Given the description of an element on the screen output the (x, y) to click on. 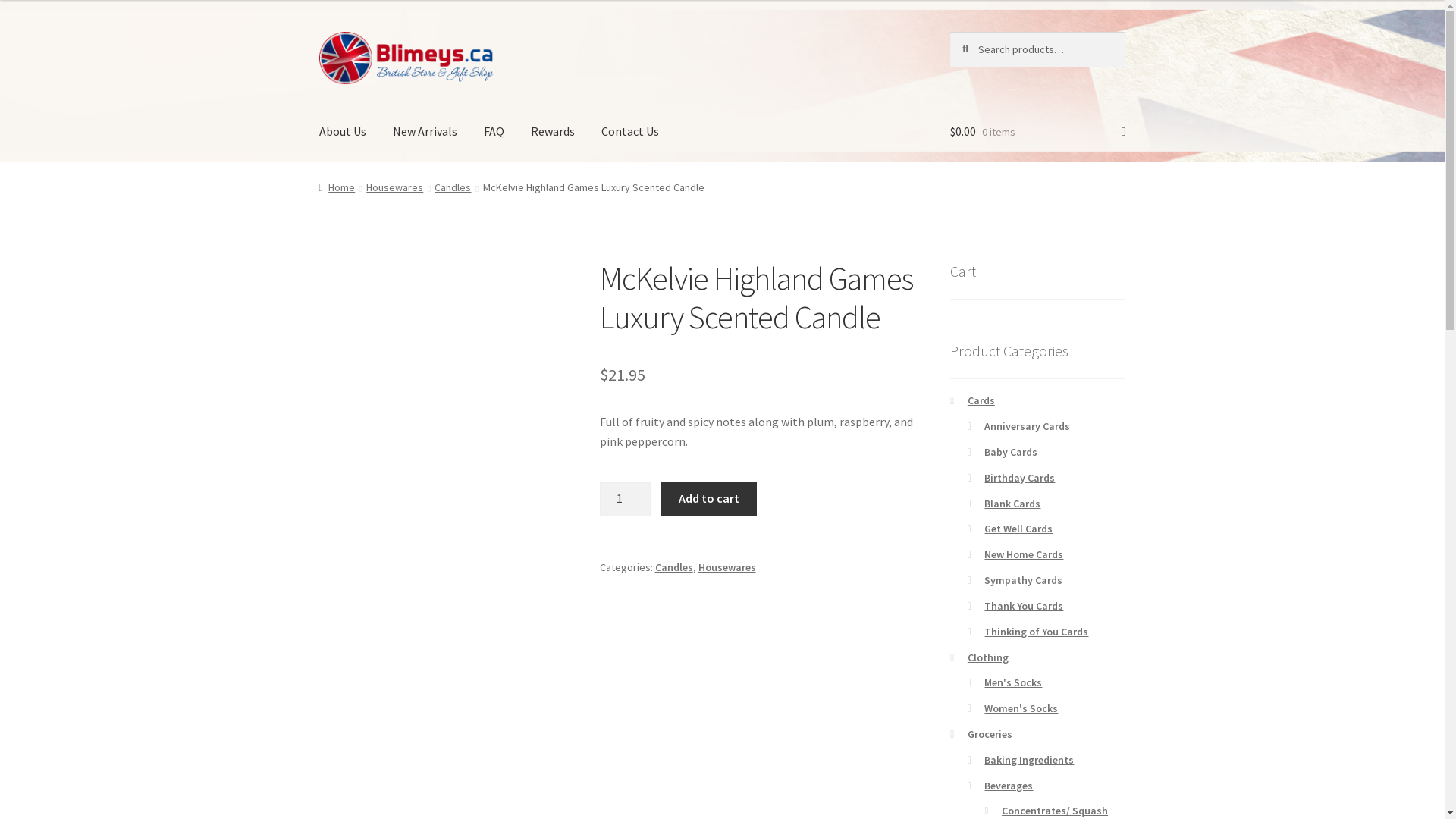
Contact Us Element type: text (630, 131)
Thank You Cards Element type: text (1023, 605)
Thinking of You Cards Element type: text (1036, 631)
Skip to navigation Element type: text (318, 31)
Candles Element type: text (674, 567)
Birthday Cards Element type: text (1019, 477)
Baby Cards Element type: text (1010, 451)
$0.00 0 items Element type: text (1037, 131)
Rewards Element type: text (552, 131)
Men's Socks Element type: text (1012, 682)
Housewares Element type: text (394, 187)
Candles Element type: text (452, 187)
Search Element type: text (949, 31)
New Arrivals Element type: text (424, 131)
Home Element type: text (337, 187)
Sympathy Cards Element type: text (1023, 579)
Beverages Element type: text (1008, 785)
Women's Socks Element type: text (1020, 708)
Clothing Element type: text (987, 657)
Baking Ingredients Element type: text (1028, 759)
Get Well Cards Element type: text (1018, 528)
Add to cart Element type: text (708, 498)
Housewares Element type: text (727, 567)
Blank Cards Element type: text (1012, 503)
New Home Cards Element type: text (1023, 554)
Cards Element type: text (980, 400)
Anniversary Cards Element type: text (1027, 426)
Groceries Element type: text (989, 733)
About Us Element type: text (342, 131)
FAQ Element type: text (493, 131)
Concentrates/ Squash Element type: text (1054, 810)
